Given the description of an element on the screen output the (x, y) to click on. 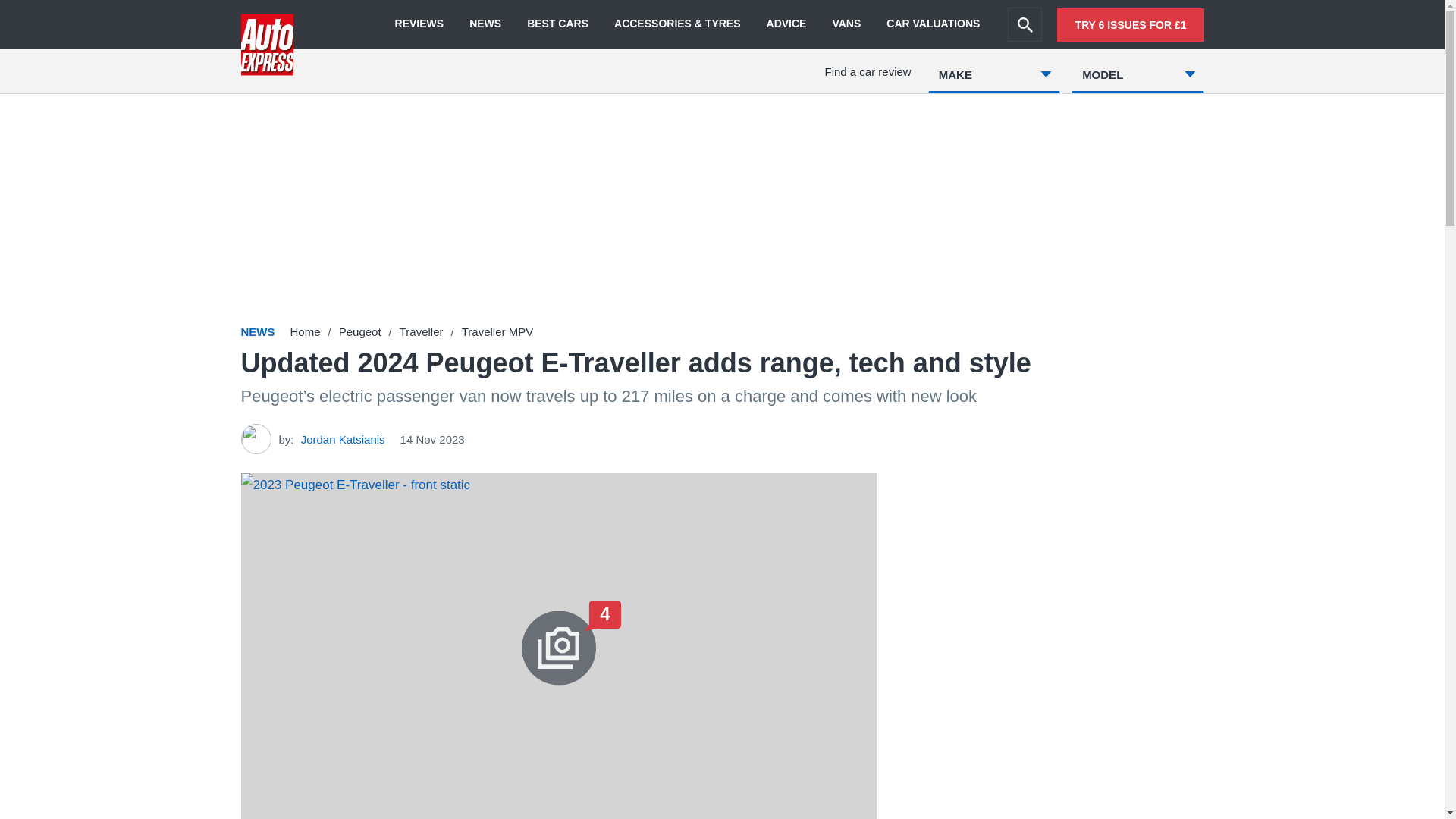
Search (1024, 24)
VANS (845, 24)
Search (1024, 24)
CAR VALUATIONS (932, 24)
NEWS (485, 24)
REVIEWS (419, 24)
BEST CARS (557, 24)
ADVICE (786, 24)
